Given the description of an element on the screen output the (x, y) to click on. 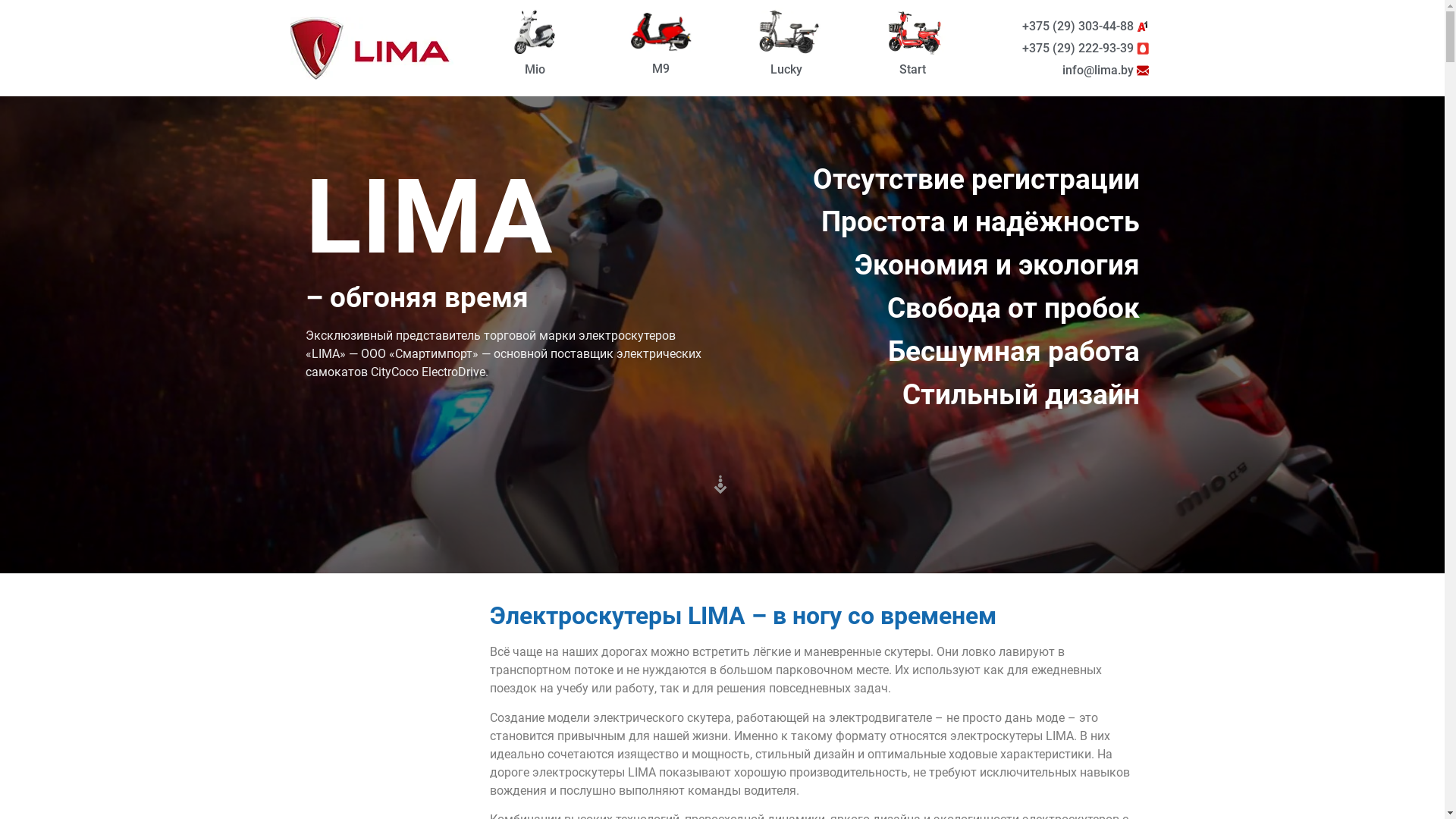
info@lima.by Element type: text (1105, 70)
Start Element type: text (471, 72)
Lucky Element type: text (419, 72)
+375 (29) 303-44-88 Element type: text (1085, 26)
M9 Element type: text (660, 68)
Mio Element type: text (534, 69)
Lucky Element type: text (786, 69)
Mio Element type: text (304, 72)
+375 (29) 222-93-39 Element type: text (1085, 48)
Start Element type: text (912, 69)
M9 Element type: text (370, 72)
